Given the description of an element on the screen output the (x, y) to click on. 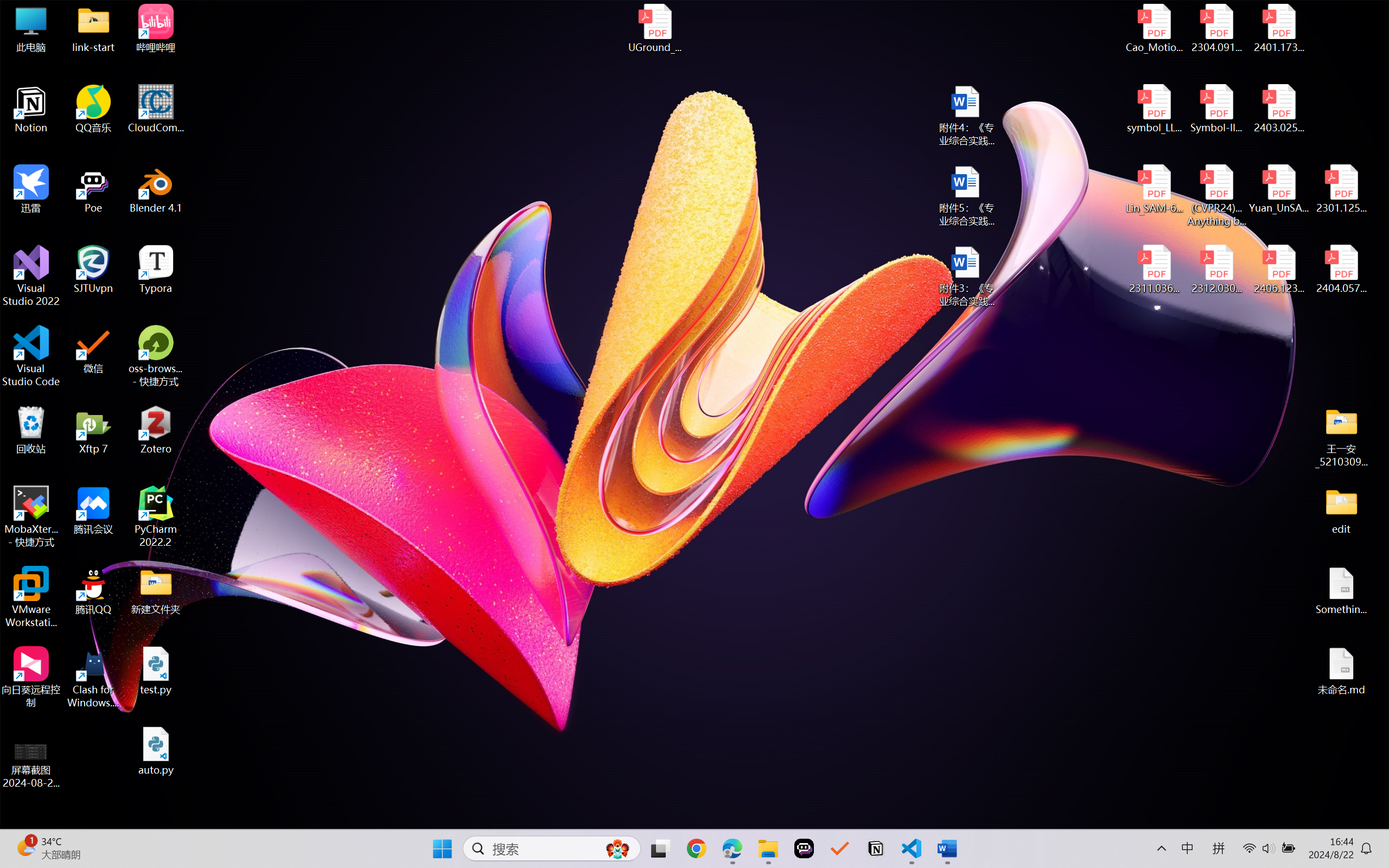
Blender 4.1 (156, 189)
edit (1340, 510)
SJTUvpn (93, 269)
